Given the description of an element on the screen output the (x, y) to click on. 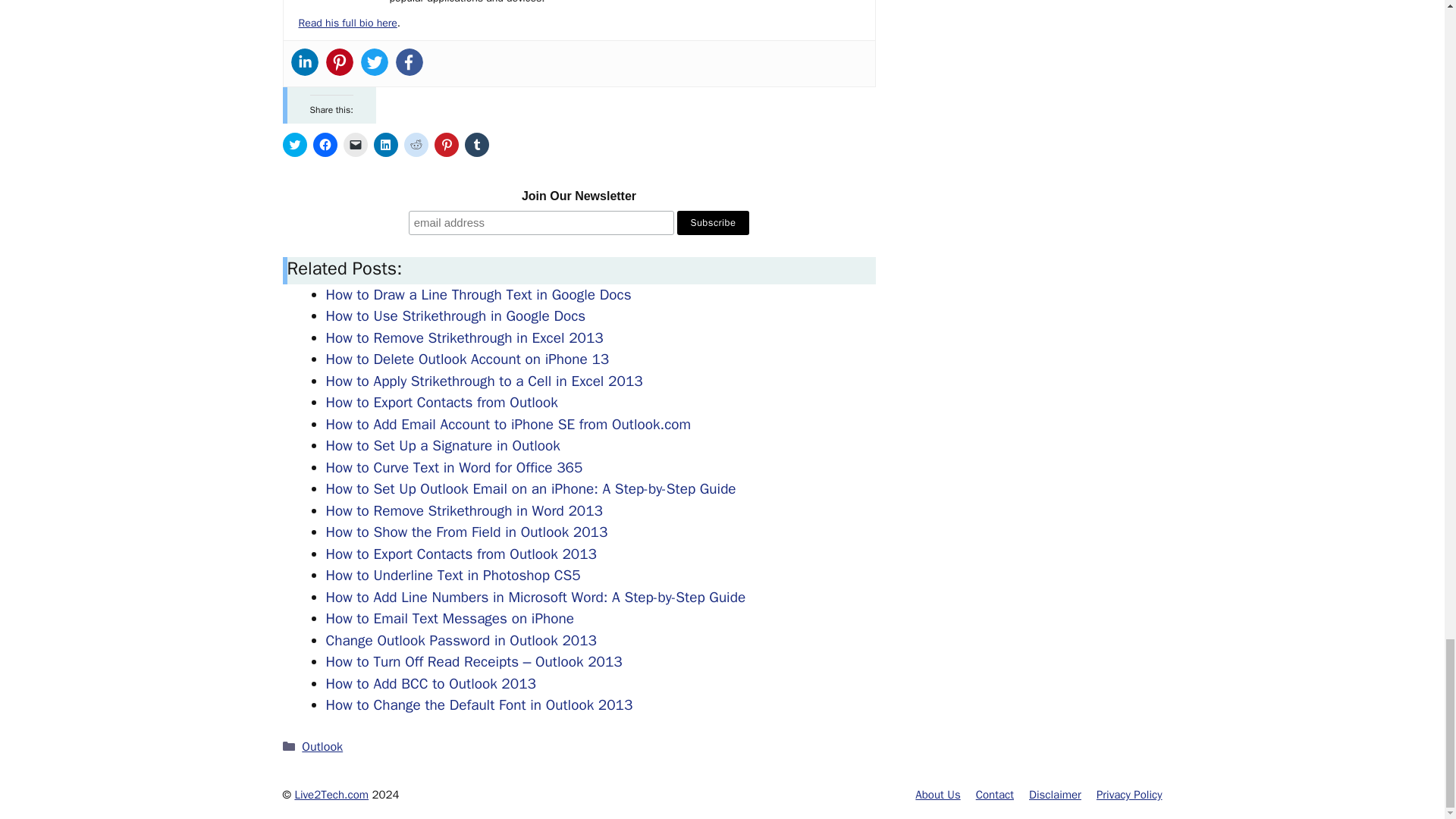
How to Show the From Field in Outlook 2013 (467, 532)
How to Export Contacts from Outlook (441, 402)
Subscribe (713, 222)
How to Export Contacts from Outlook 2013 (461, 554)
How to Use Strikethrough in Google Docs (456, 316)
Click to share on Twitter (293, 144)
Pinterest (339, 62)
How to Delete Outlook Account on iPhone 13 (468, 359)
Twitter (374, 62)
